Given the description of an element on the screen output the (x, y) to click on. 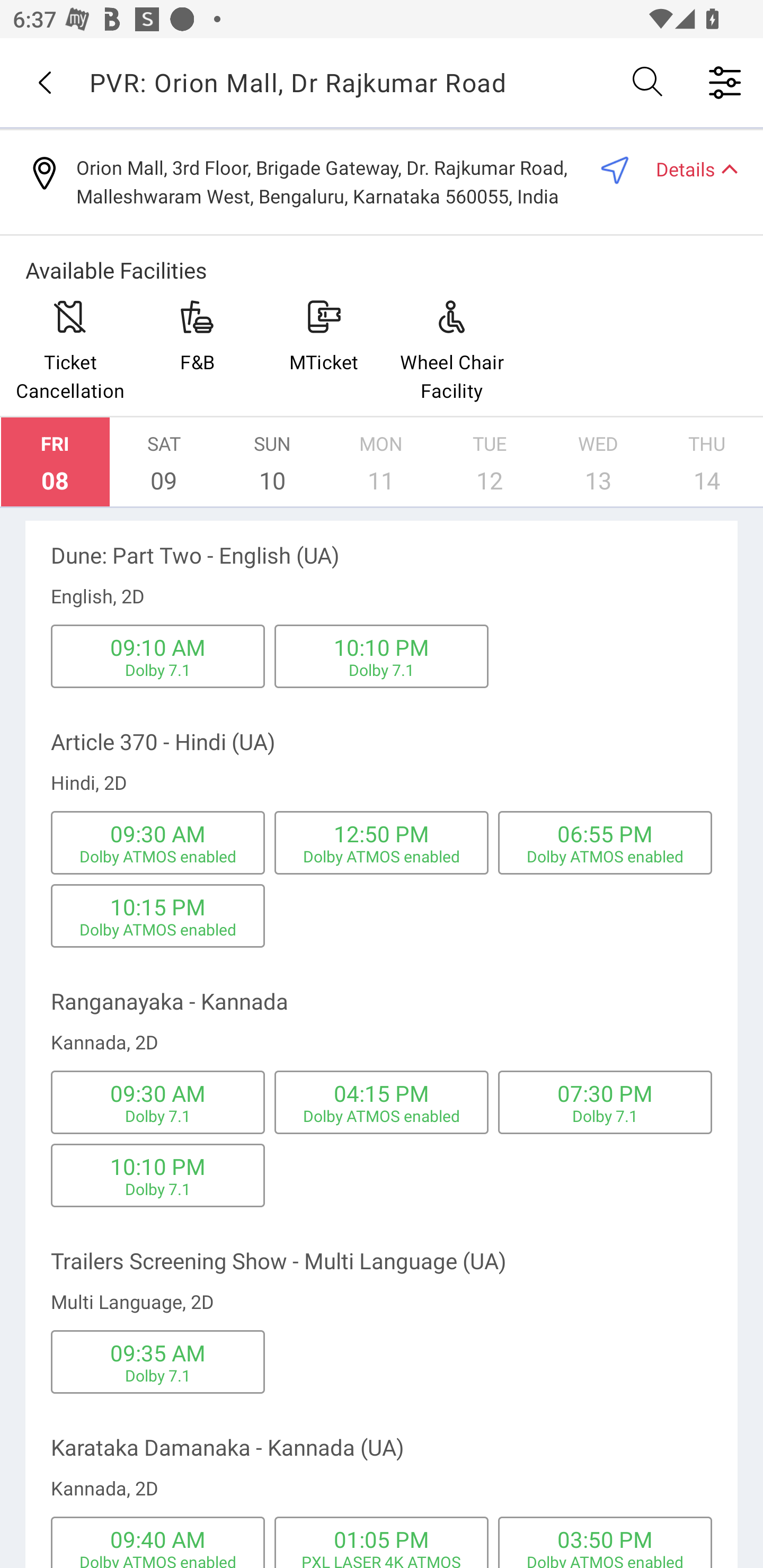
Navigate up (44, 82)
Search (648, 81)
Filter (724, 81)
Details (688, 168)
SAT 09 MAR (163, 461)
SUN 10 MAR (272, 461)
MON 11 MAR (380, 461)
TUE 12 MAR (489, 461)
WED 13 MAR (598, 461)
THU 14 MAR (707, 461)
09:10 AM (157, 646)
10:10 PM (381, 646)
Dolby 7.1 (157, 669)
Dolby 7.1 (381, 669)
09:30 AM (157, 833)
12:50 PM (381, 833)
06:55 PM (605, 833)
Dolby ATMOS enabled (157, 856)
Dolby ATMOS enabled (381, 856)
Dolby ATMOS enabled (604, 856)
10:15 PM (157, 906)
Dolby ATMOS enabled (157, 929)
09:30 AM (157, 1093)
04:15 PM (381, 1093)
07:30 PM (605, 1093)
Dolby 7.1 (157, 1116)
Dolby ATMOS enabled (381, 1116)
Dolby 7.1 (604, 1116)
10:10 PM (157, 1165)
Dolby 7.1 (157, 1188)
09:35 AM (157, 1352)
Dolby 7.1 (157, 1375)
09:40 AM (157, 1538)
01:05 PM (381, 1538)
03:50 PM (605, 1538)
Dolby ATMOS enabled (157, 1559)
PXL LASER 4K ATMOS (380, 1559)
Dolby ATMOS enabled (604, 1559)
